Given the description of an element on the screen output the (x, y) to click on. 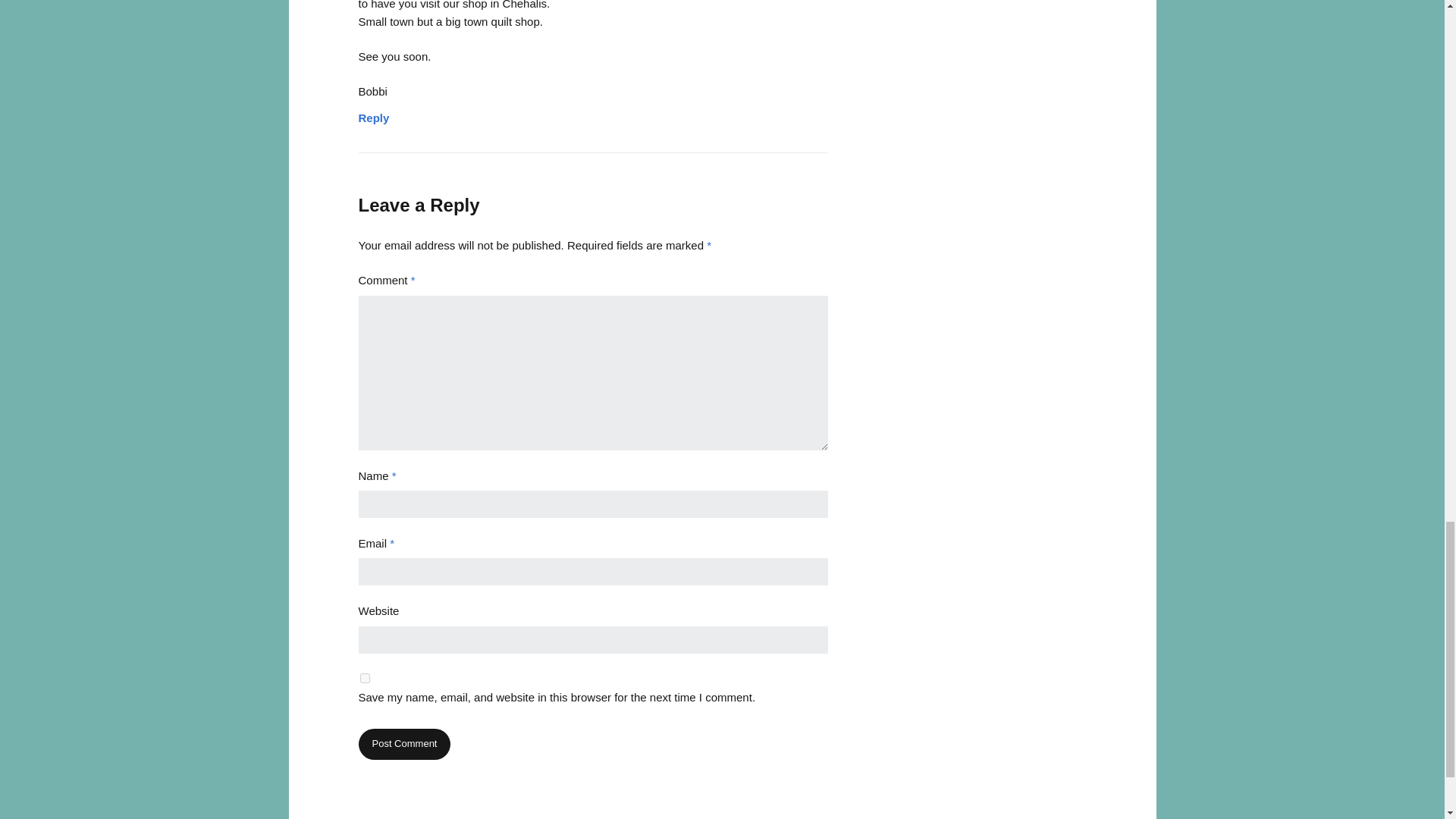
yes (364, 678)
Reply (373, 113)
Post Comment (403, 744)
Post Comment (403, 744)
